Given the description of an element on the screen output the (x, y) to click on. 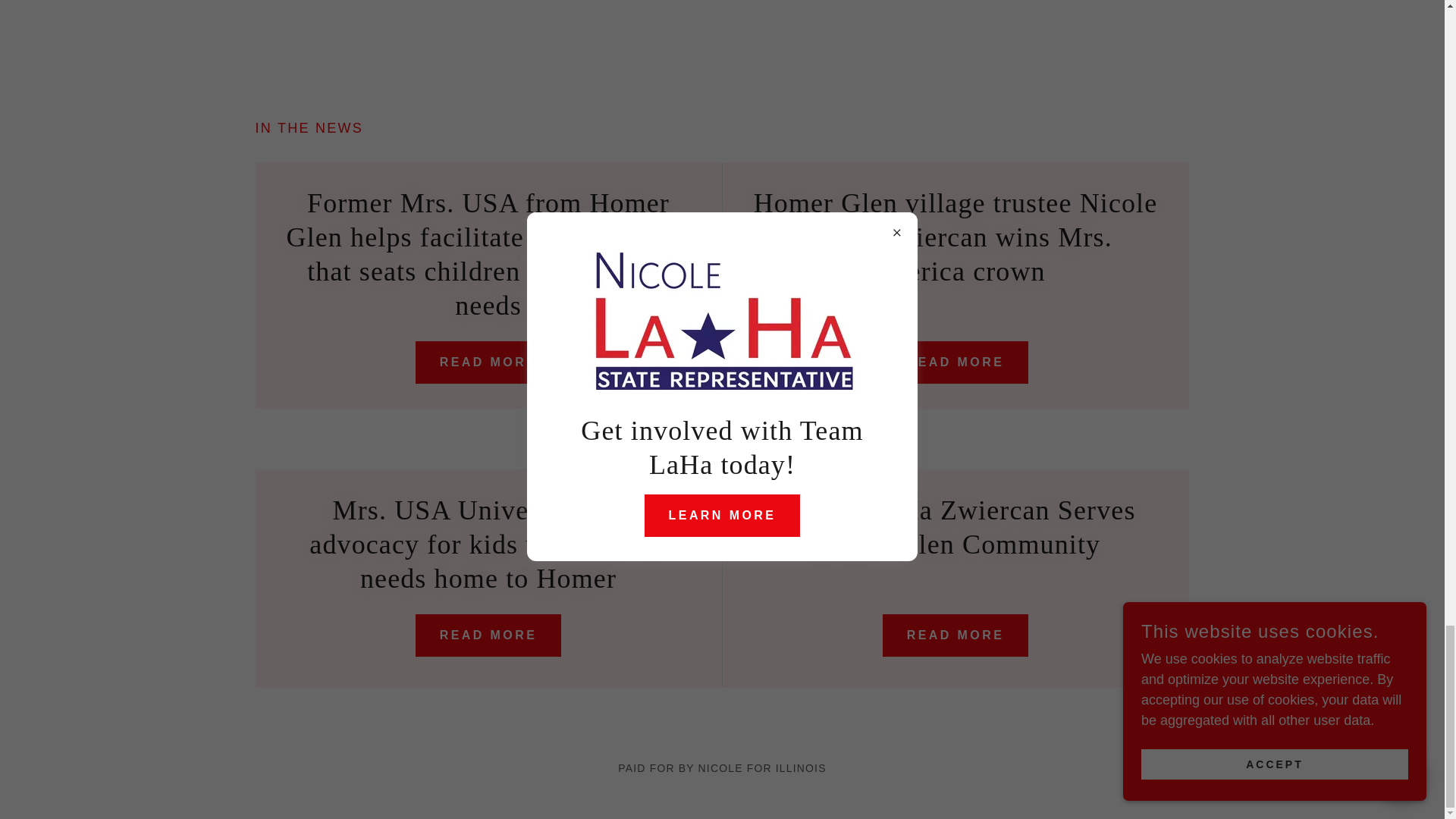
READ MORE (488, 635)
READ MORE (955, 362)
READ MORE (955, 635)
READ MORE (488, 362)
